Given the description of an element on the screen output the (x, y) to click on. 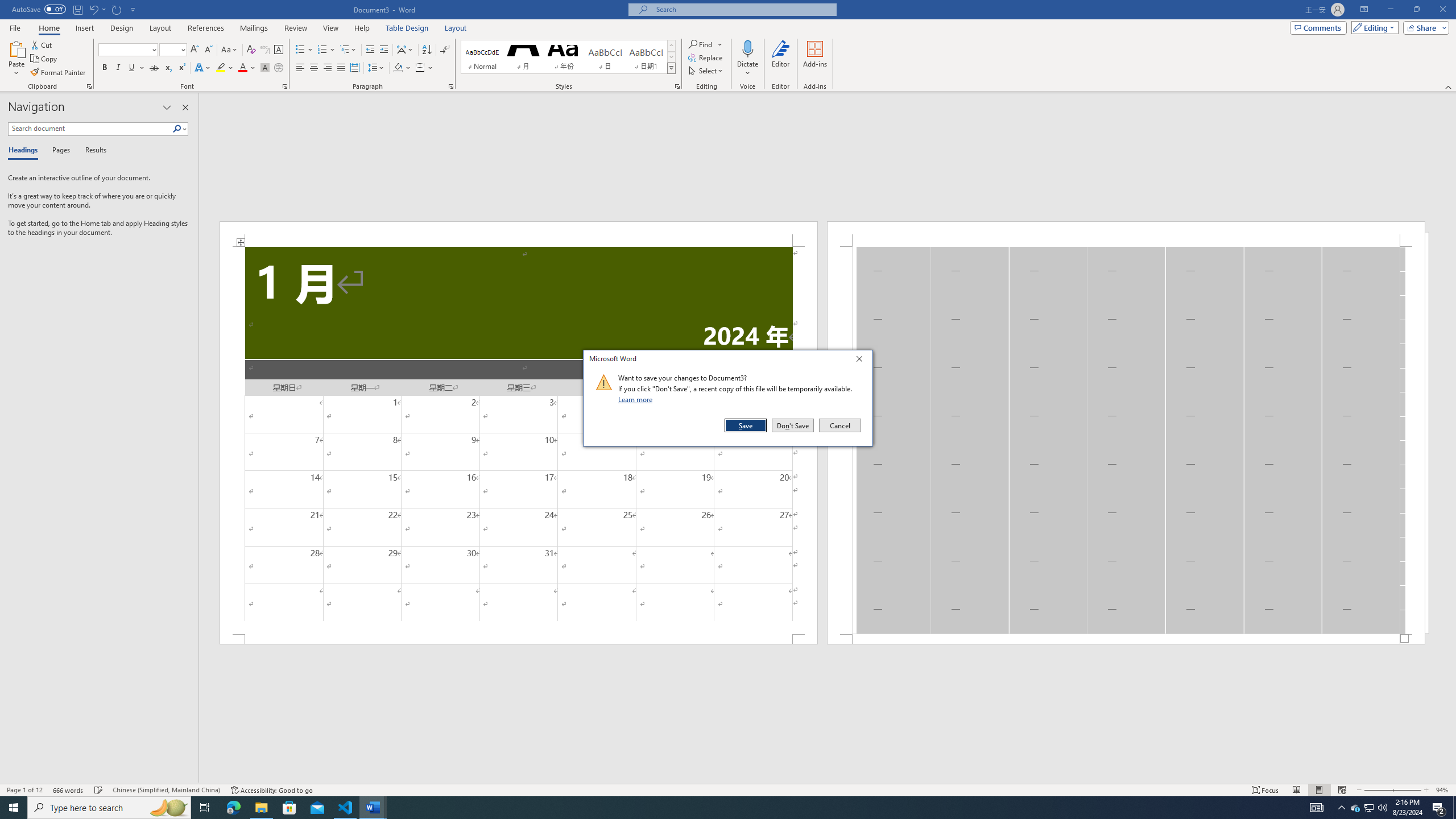
Running applications (717, 807)
File Explorer - 1 running window (261, 807)
